Given the description of an element on the screen output the (x, y) to click on. 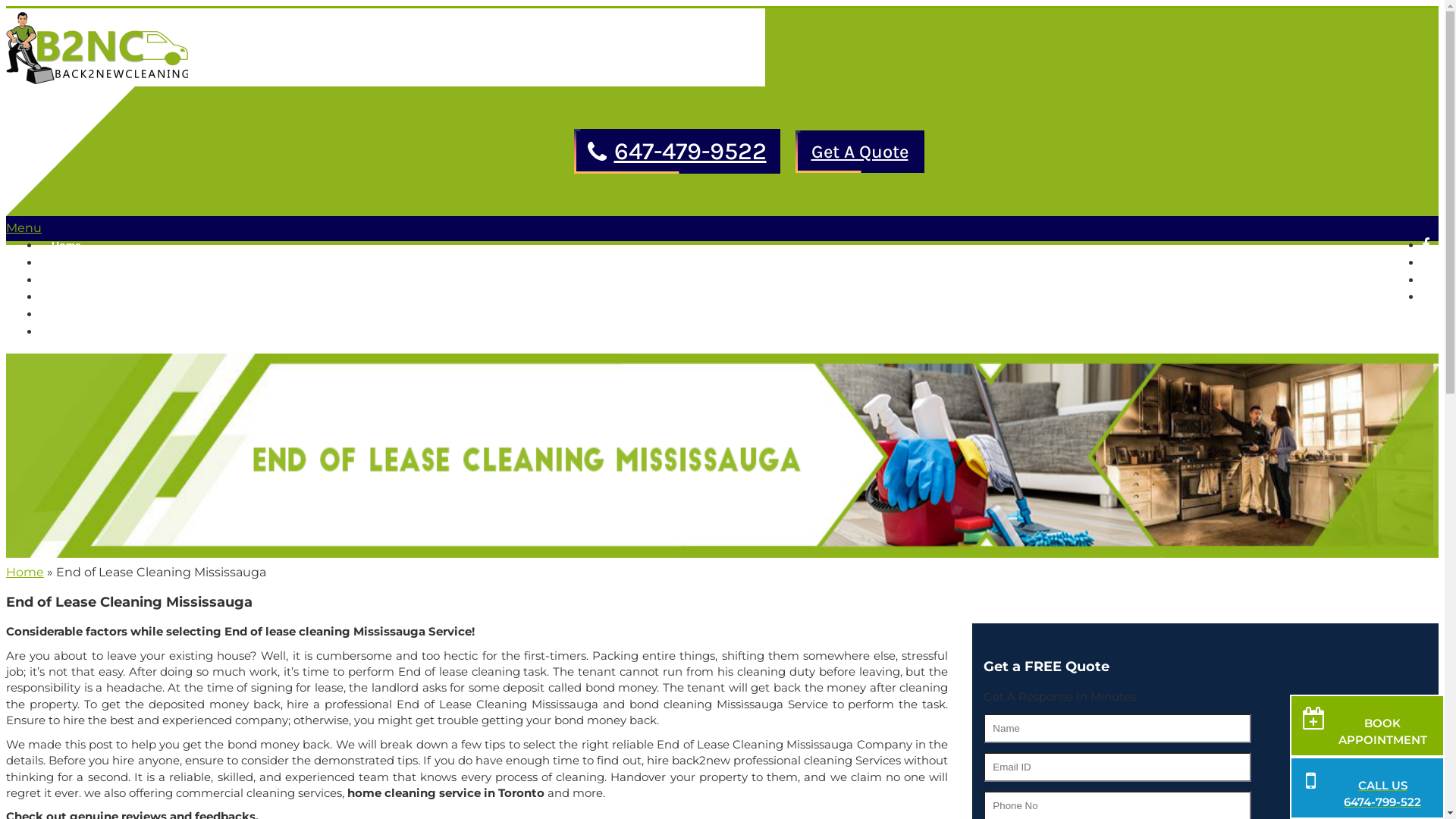
Blog Element type: text (63, 314)
Fix and Repair Element type: text (94, 280)
Contact Us Element type: text (79, 332)
Cleaning Element type: text (80, 263)
Flood & Fire Flood Element type: text (104, 297)
BOOK
APPOINTMENT Element type: text (1366, 725)
Menu Element type: text (23, 227)
Get A Quote Element type: text (859, 150)
Home Element type: text (66, 245)
End of Lease Cleaning Mississauga Element type: hover (722, 455)
Home Element type: text (24, 571)
647-479-9522 Element type: text (690, 151)
